Given the description of an element on the screen output the (x, y) to click on. 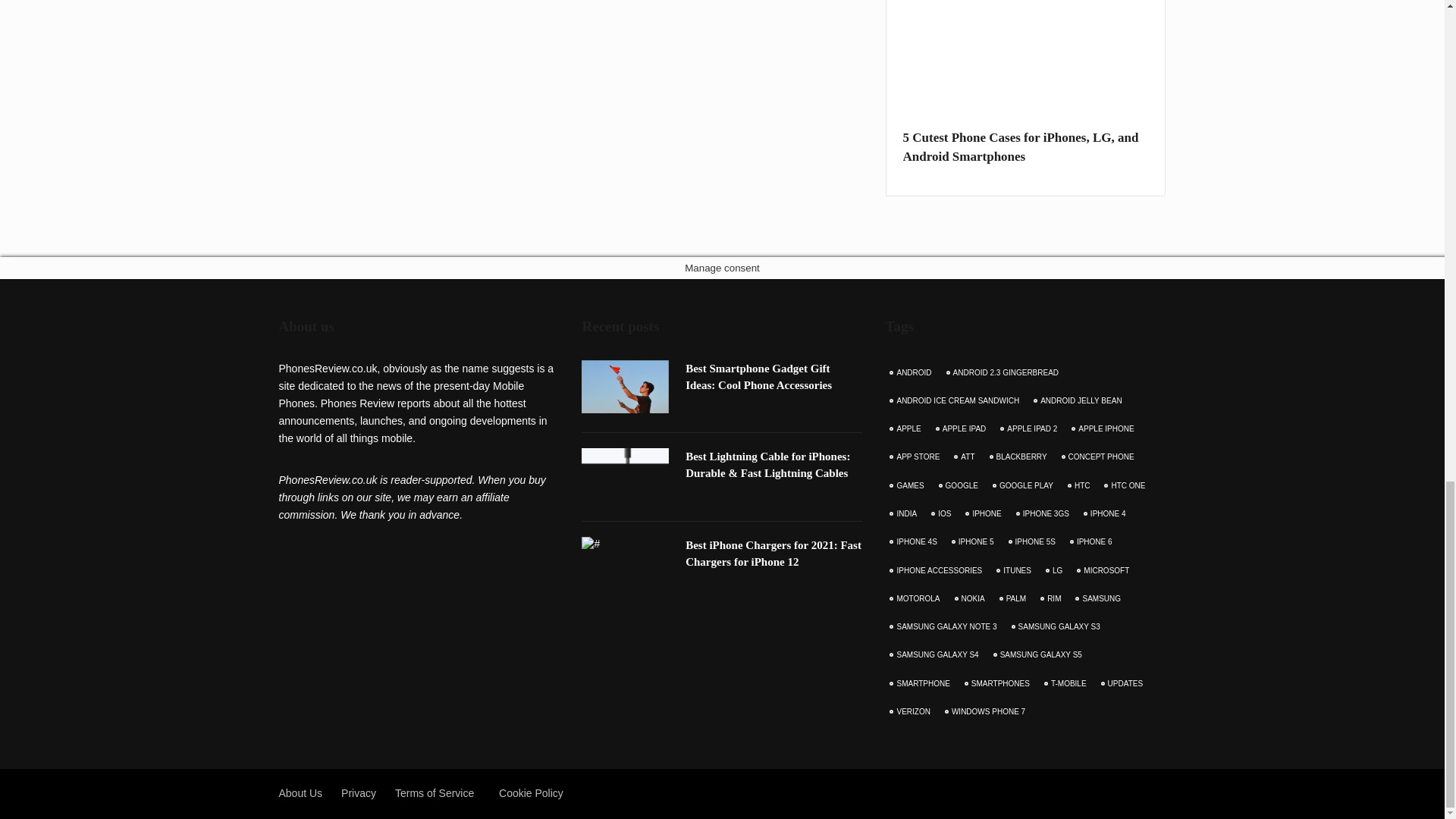
ANDROID (912, 372)
Best iPhone Chargers for 2021: Fast Chargers for iPhone 12 (773, 553)
ANDROID 2.3 GINGERBREAD (1003, 372)
Best Smartphone Gadget Gift Ideas: Cool Phone Accessories (758, 376)
